Given the description of an element on the screen output the (x, y) to click on. 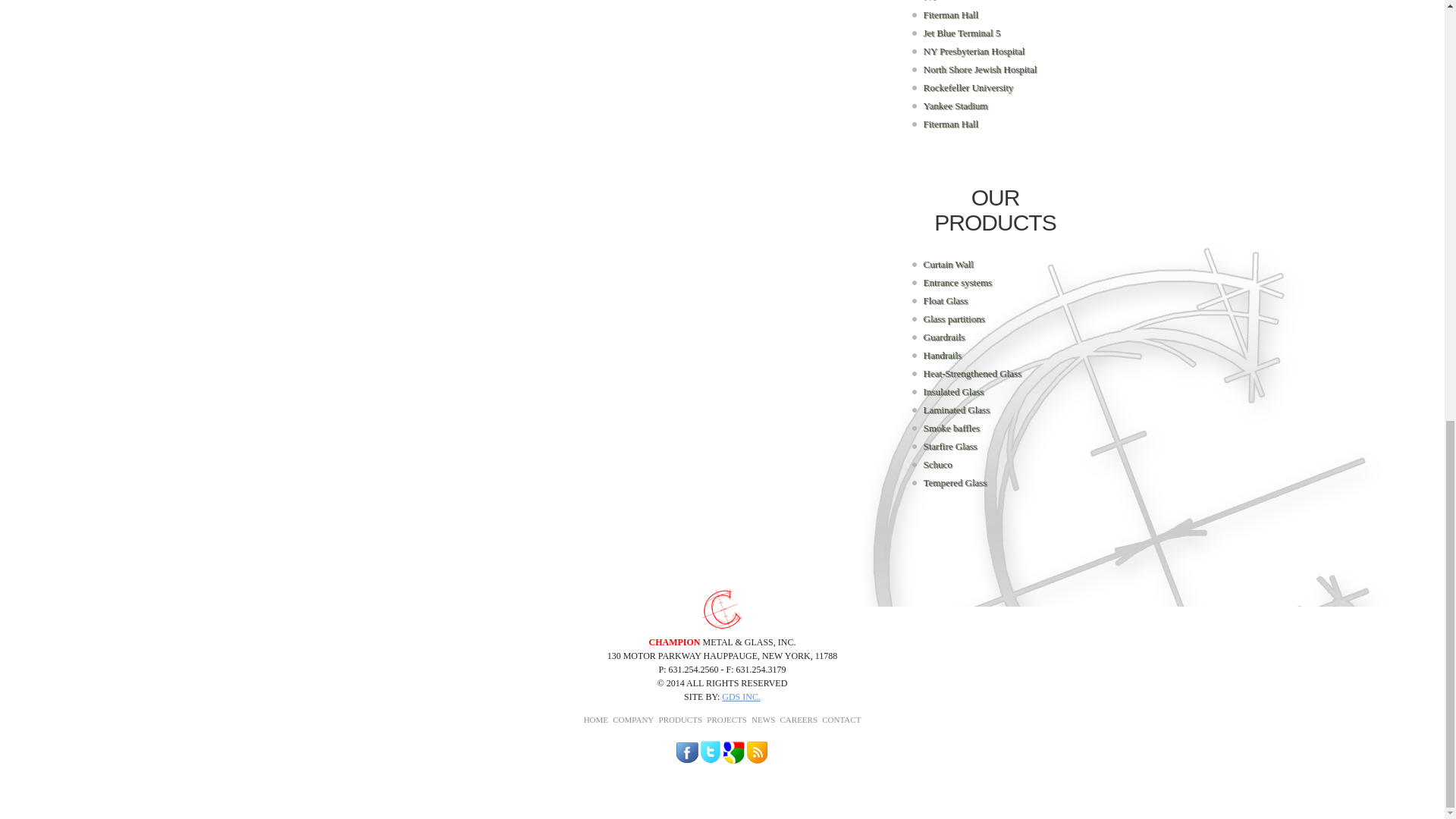
NY Presbyterian Hospital (974, 50)
Jet Blue Terminal 5 (962, 32)
Architectural company (721, 608)
Fiterman Hall (950, 14)
